Given the description of an element on the screen output the (x, y) to click on. 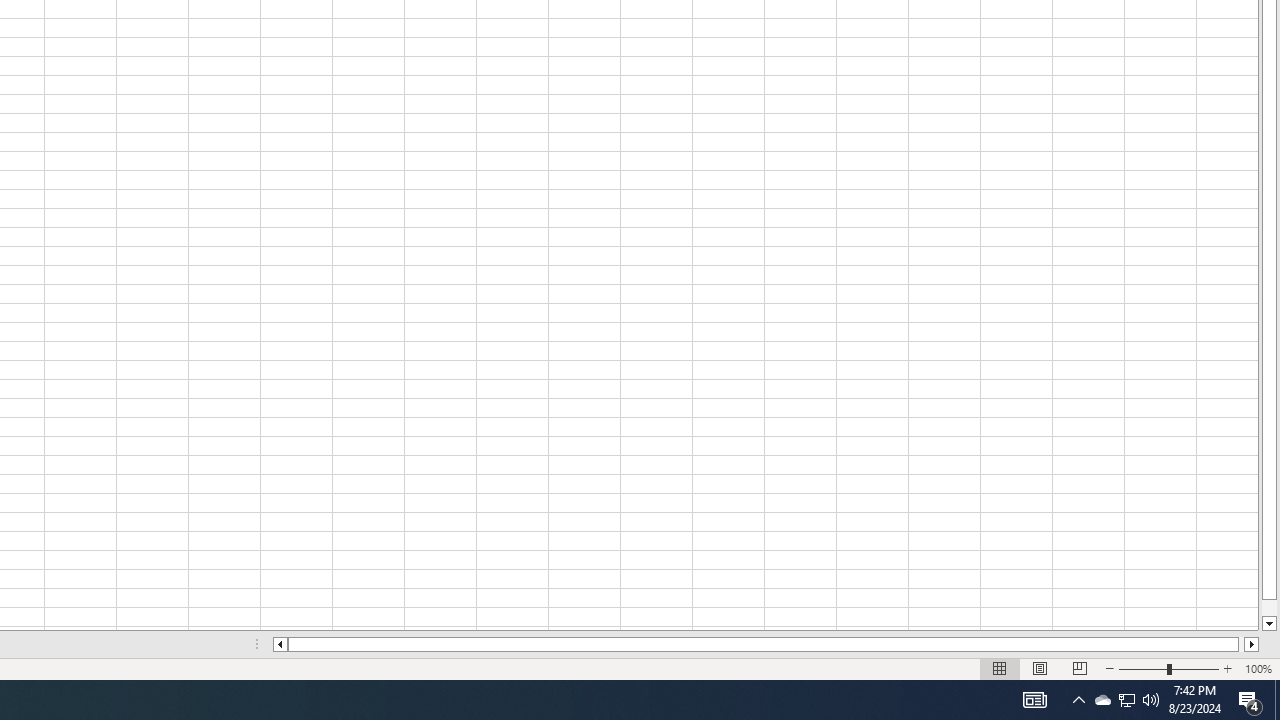
Zoom In (1227, 668)
Class: NetUIScrollBar (765, 644)
Zoom Out (1142, 668)
Zoom (1168, 668)
Line down (1268, 624)
Page down (1268, 607)
Column right (1252, 644)
Column left (279, 644)
Normal (1000, 668)
Page Break Preview (1079, 668)
Page right (1241, 644)
